Given the description of an element on the screen output the (x, y) to click on. 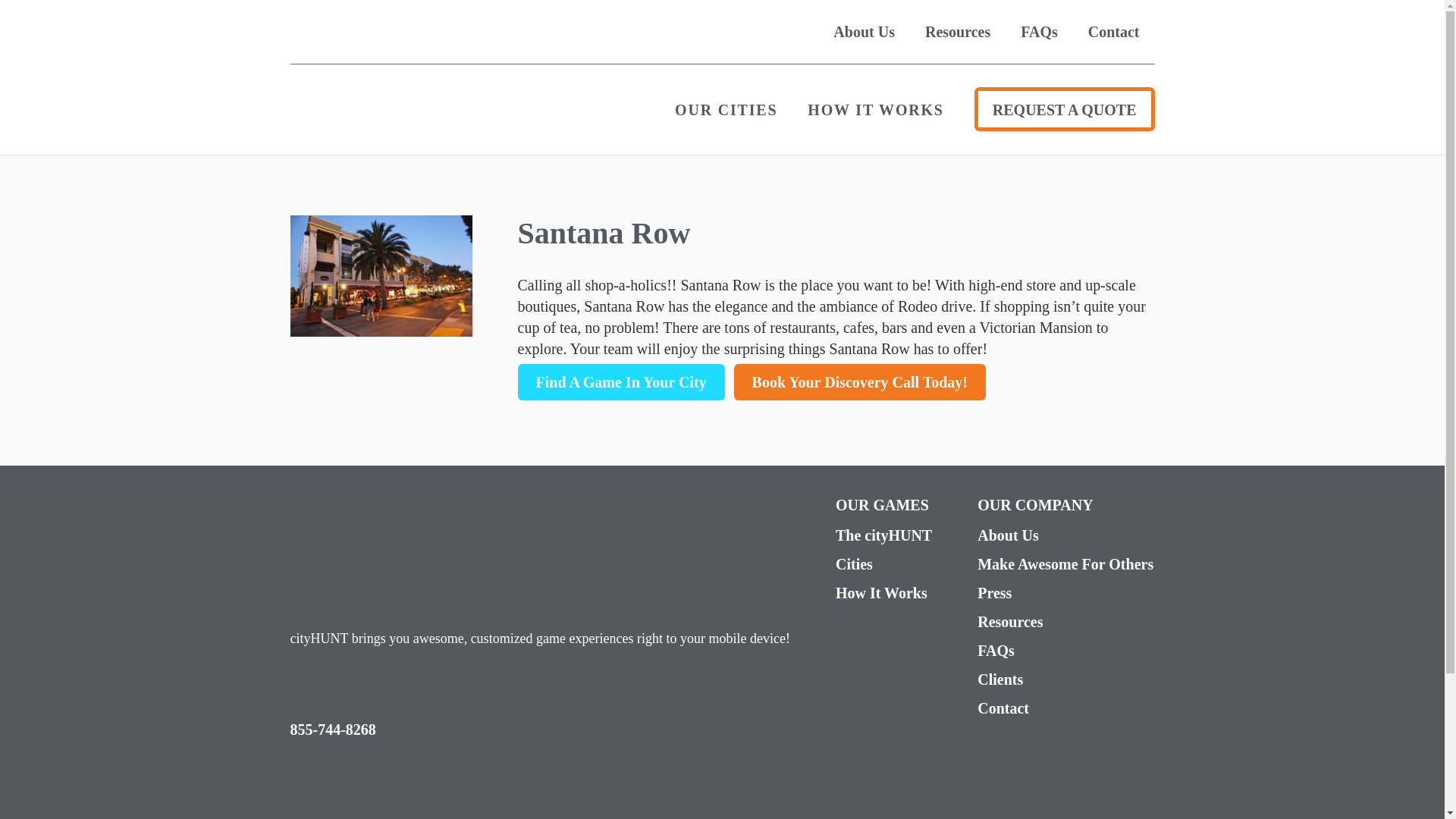
Cities (883, 563)
Resources (1064, 621)
Press (1064, 592)
855-744-8268 (332, 729)
FAQs (1064, 649)
Book Your Discovery Call Today! (859, 381)
Contact (1113, 31)
Clients (1064, 679)
About Us (1064, 535)
The cityHUNT (883, 535)
